Given the description of an element on the screen output the (x, y) to click on. 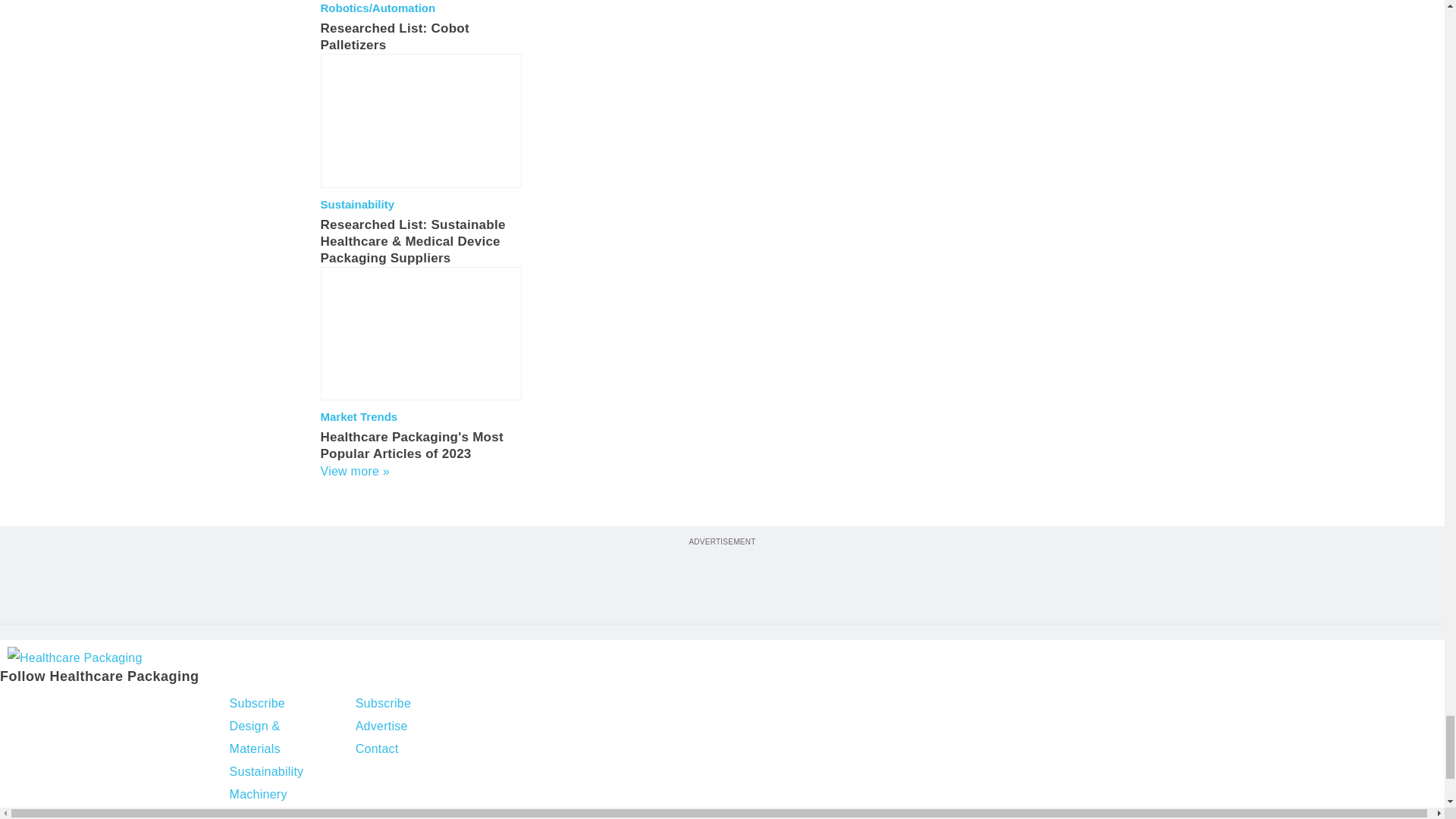
YouTube icon (133, 705)
Twitter X icon (52, 705)
Facebook icon (13, 705)
LinkedIn icon (94, 705)
